Given the description of an element on the screen output the (x, y) to click on. 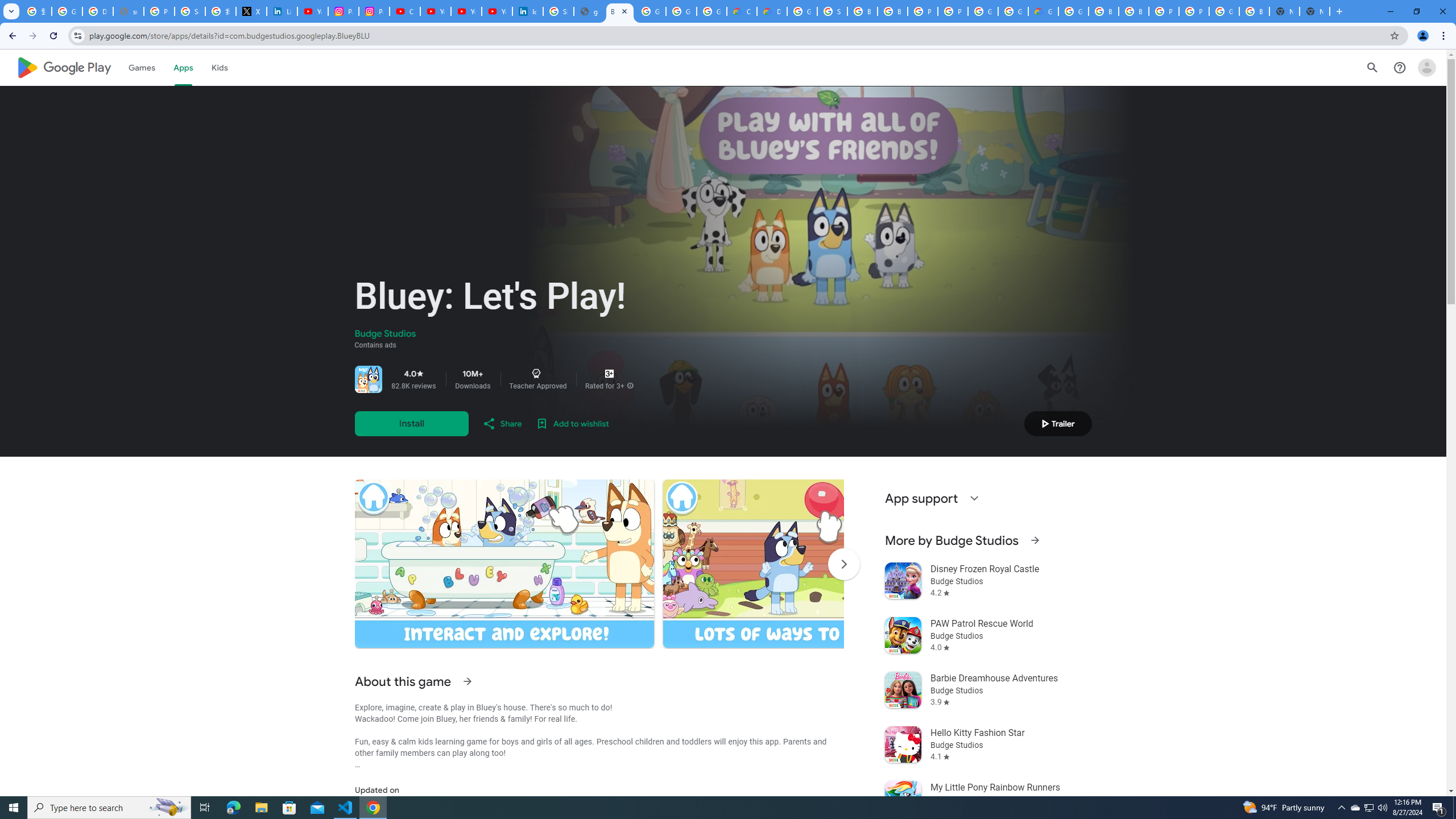
Games (141, 67)
YouTube Culture & Trends - YouTube Top 10, 2021 (496, 11)
Apps (182, 67)
Google Cloud Platform (1072, 11)
